Given the description of an element on the screen output the (x, y) to click on. 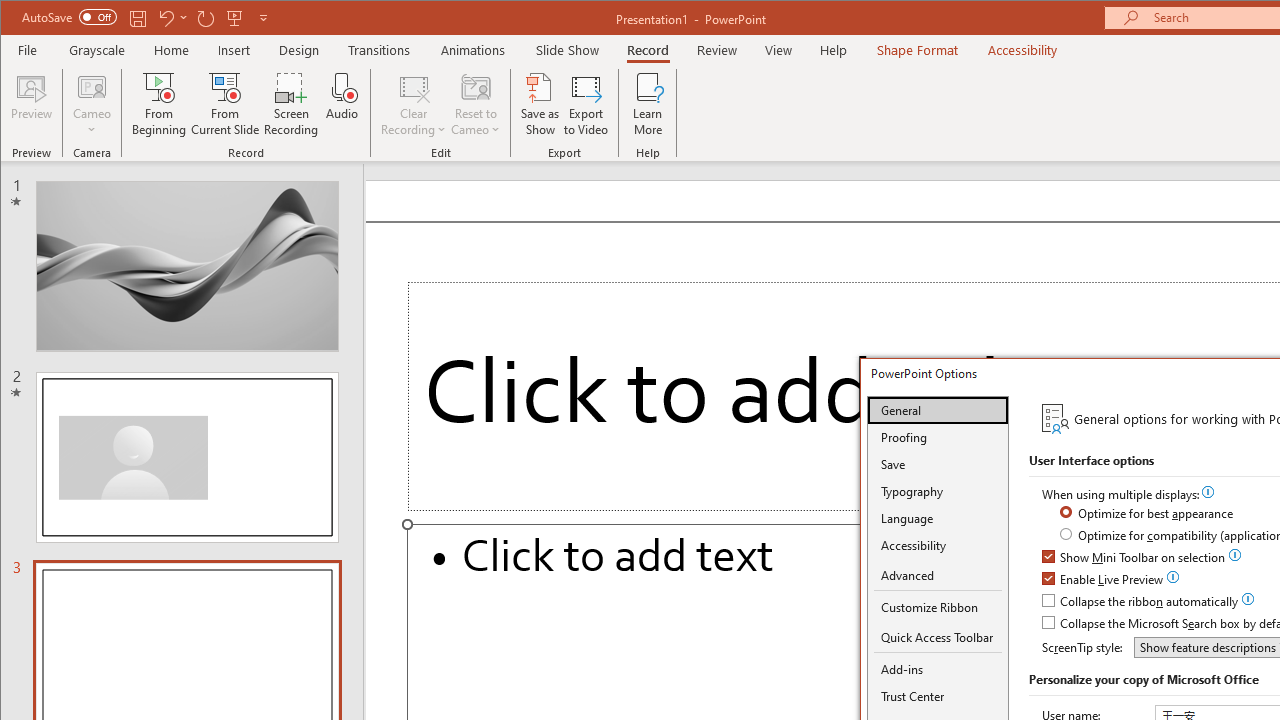
Trust Center (937, 696)
Export to Video (585, 104)
Collapse the ribbon automatically (1141, 602)
Advanced (937, 576)
Reset to Cameo (476, 104)
Optimize for best appearance (1147, 514)
From Current Slide... (225, 104)
Add-ins (937, 669)
